Given the description of an element on the screen output the (x, y) to click on. 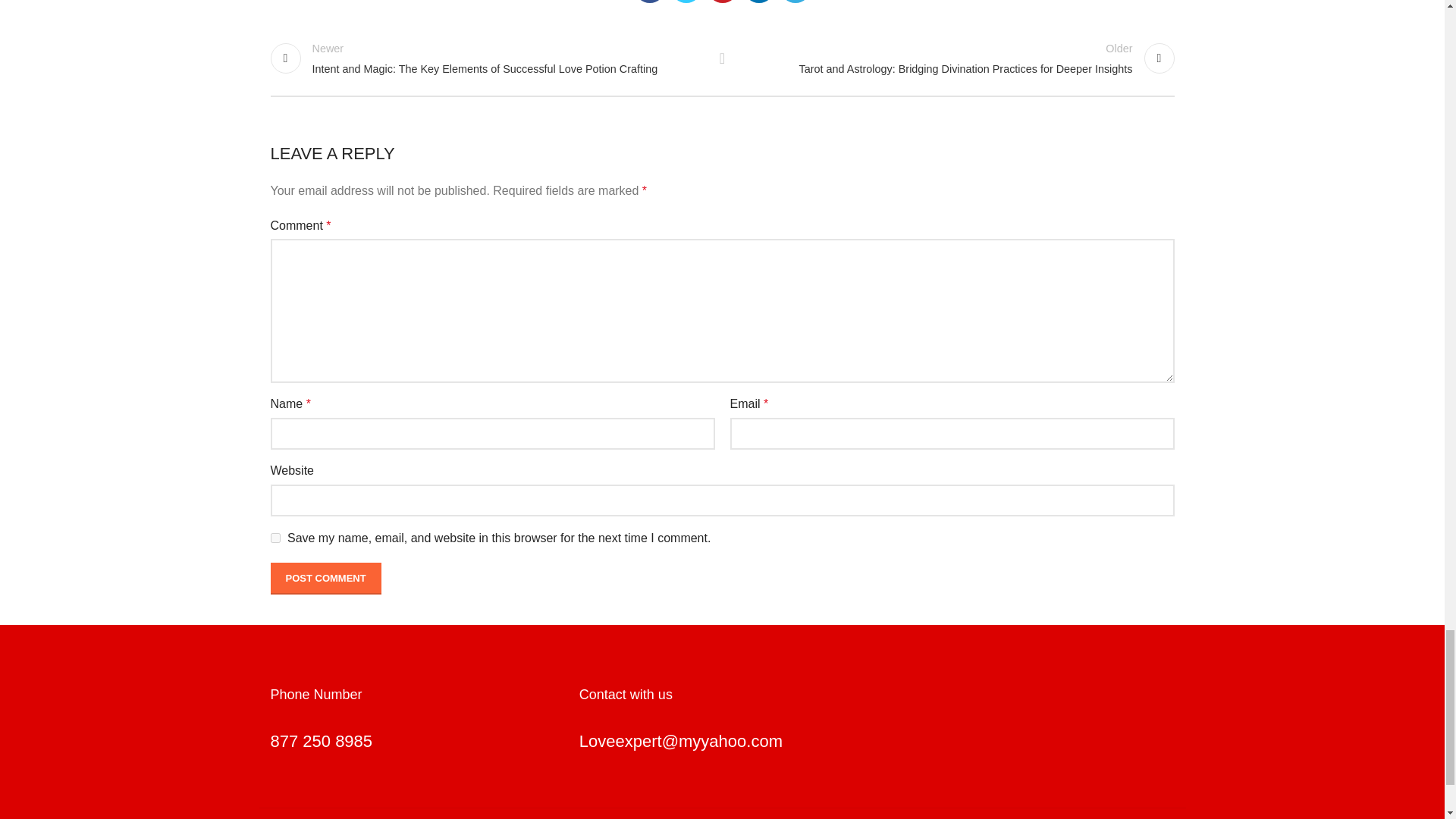
Post Comment (324, 578)
Back to list (721, 58)
Post Comment (324, 578)
yes (274, 537)
